Given the description of an element on the screen output the (x, y) to click on. 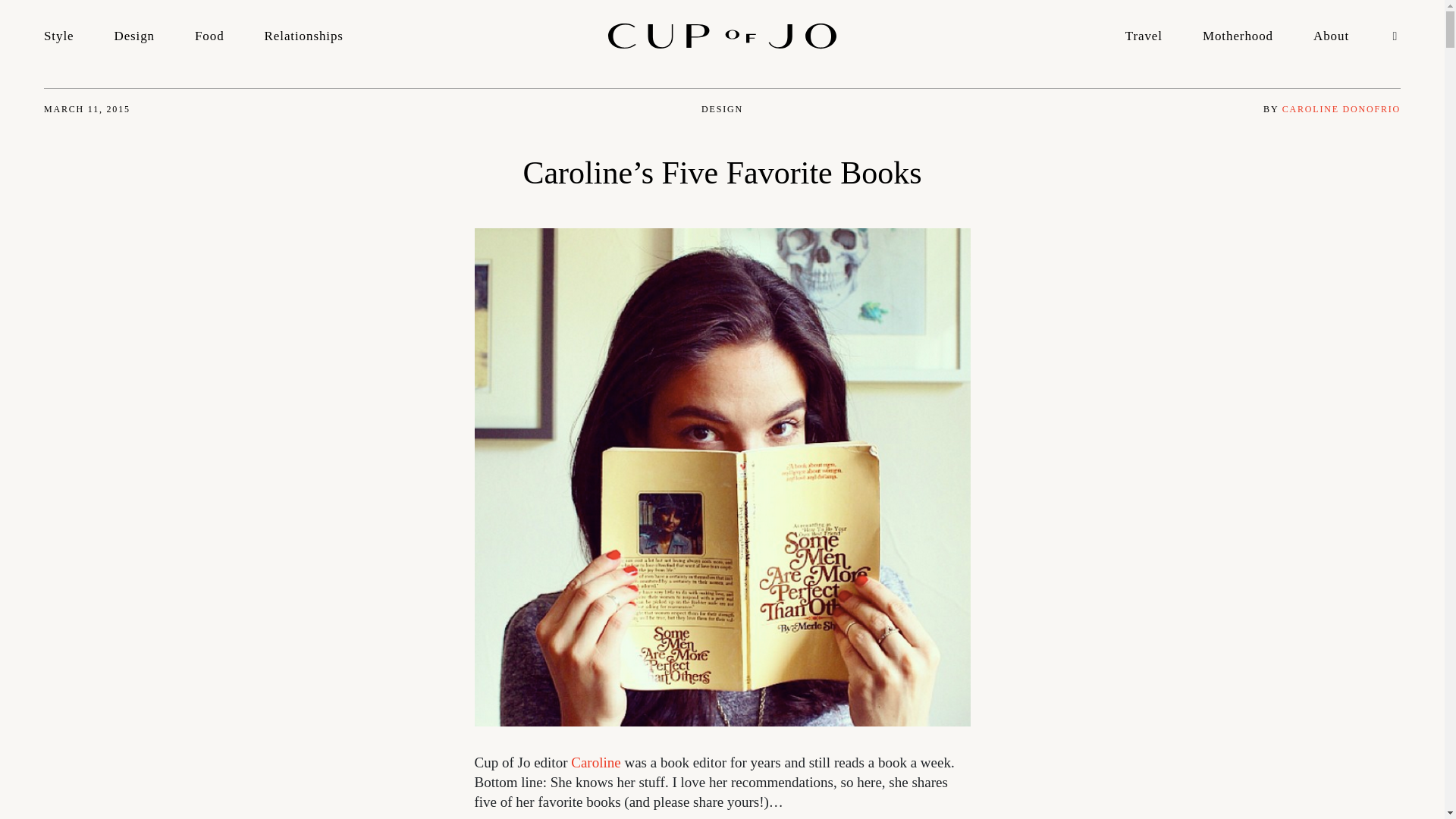
Posts by Caroline Donofrio (1341, 109)
